Given the description of an element on the screen output the (x, y) to click on. 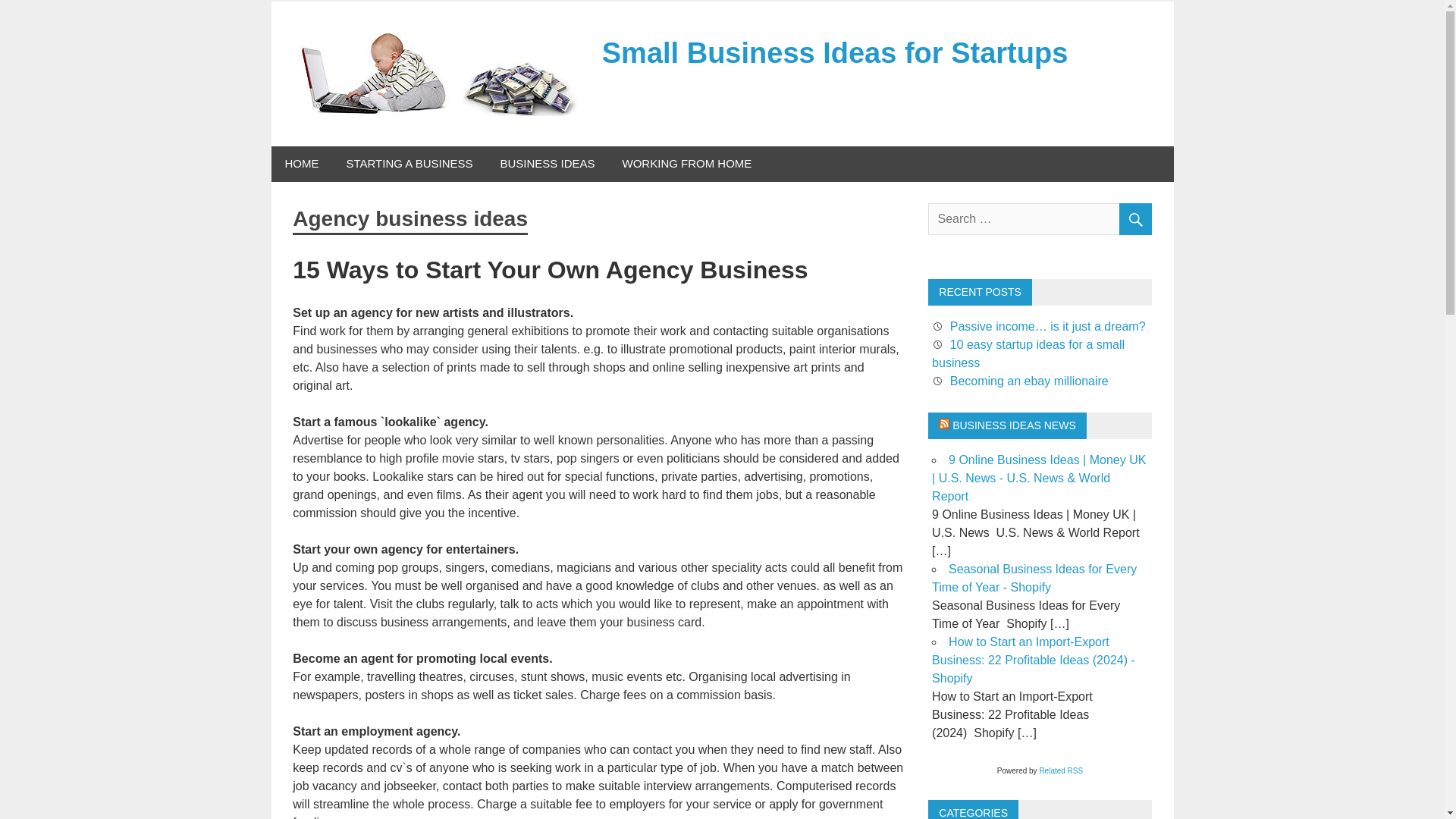
WORKING FROM HOME (686, 163)
HOME (301, 163)
STARTING A BUSINESS (408, 163)
Small Business Ideas for Startups (835, 52)
BUSINESS IDEAS (547, 163)
